Given the description of an element on the screen output the (x, y) to click on. 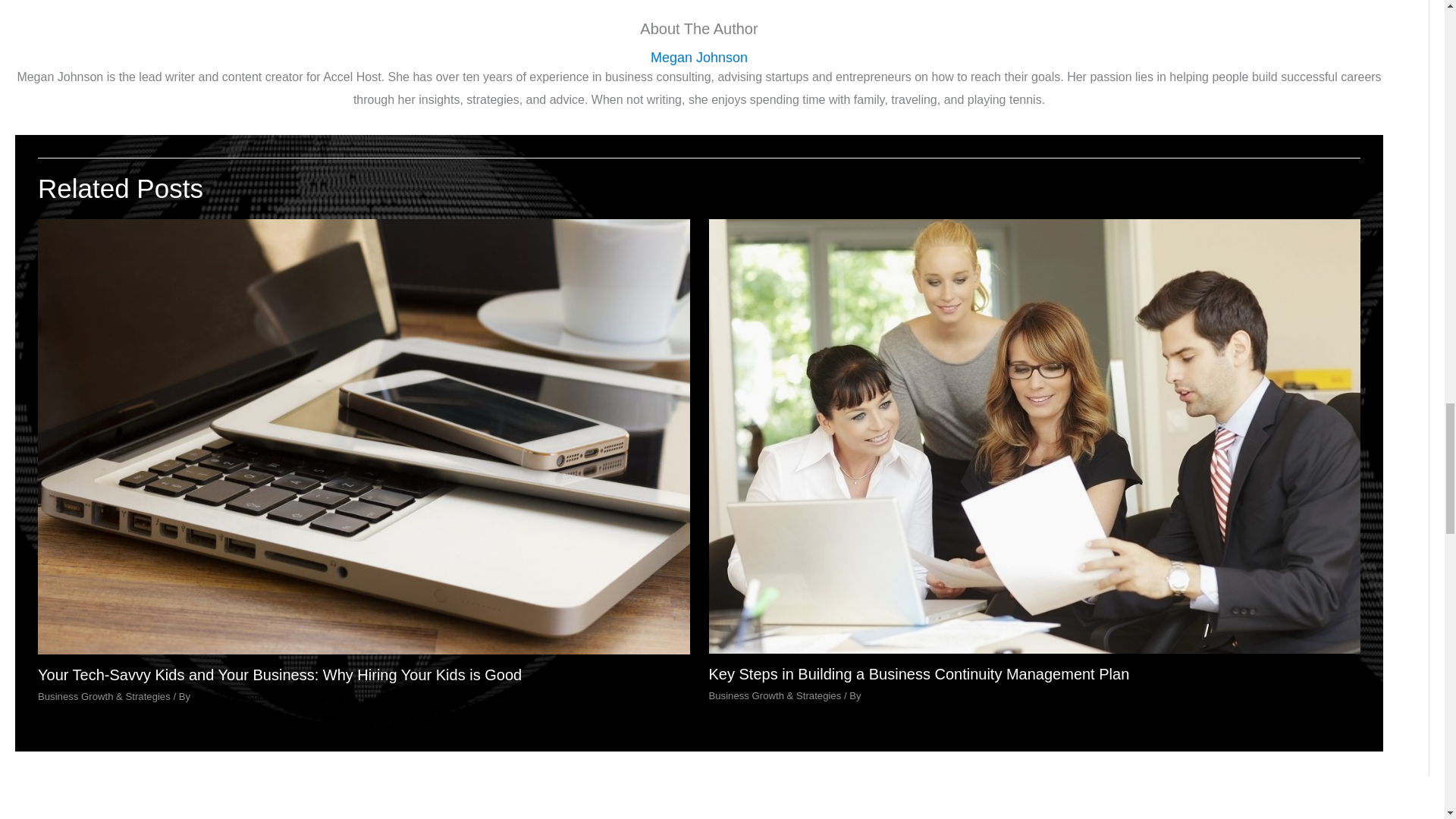
View all posts by Megan Johnson (898, 695)
Key Steps in Building a Business Continuity Management Plan (918, 673)
Megan Johnson (898, 695)
View all posts by Megan Johnson (228, 696)
Megan Johnson (698, 57)
Megan Johnson (228, 696)
